Given the description of an element on the screen output the (x, y) to click on. 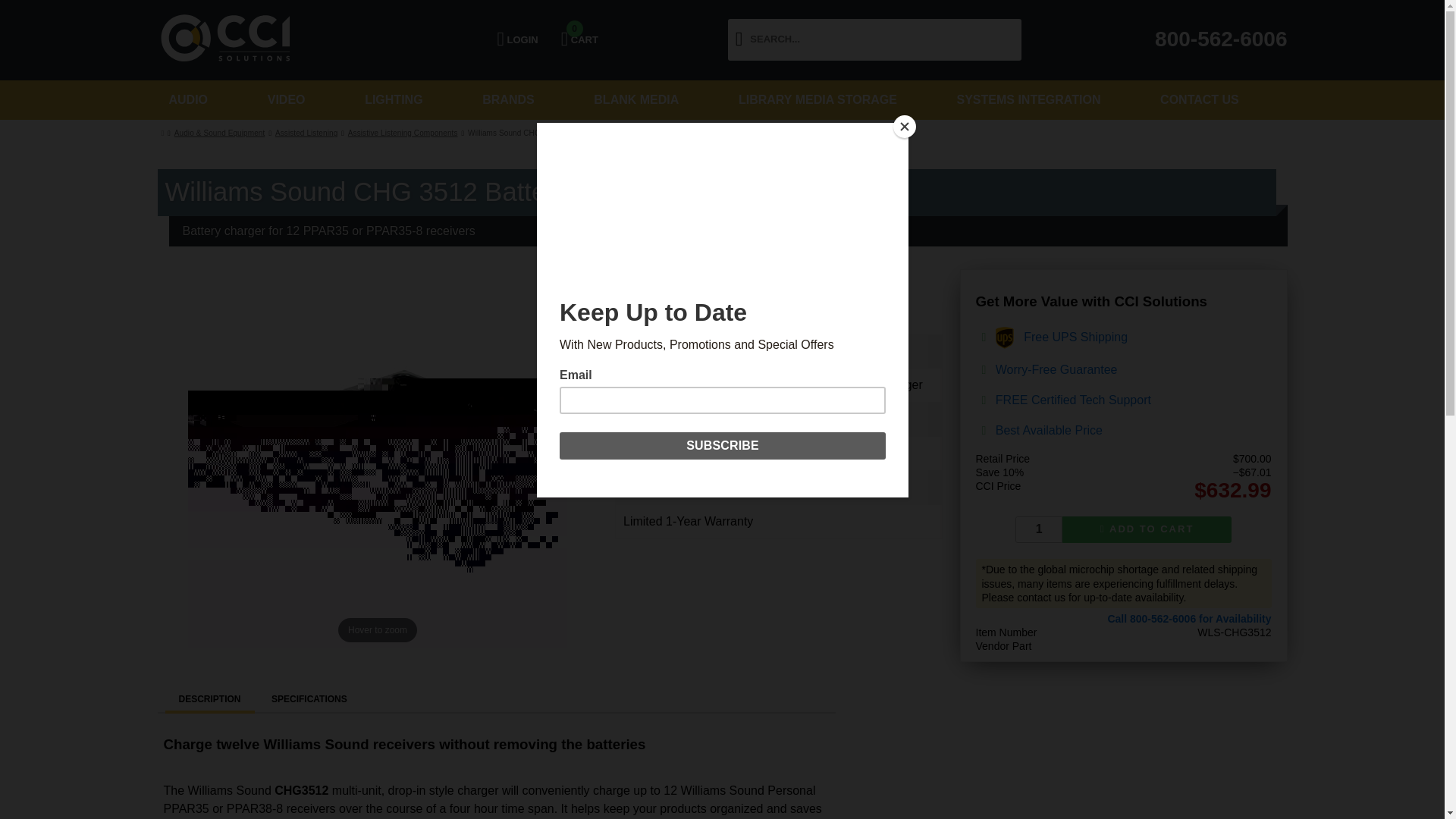
LOGIN (516, 39)
Assistive Listening Components (402, 132)
Assisted Listening (305, 132)
Buy the Williams Sound CHG 3512 Now (580, 39)
Click to Call: 800-562-6006 M-F 8am-5pm PST (1146, 529)
1 (1188, 618)
